Given the description of an element on the screen output the (x, y) to click on. 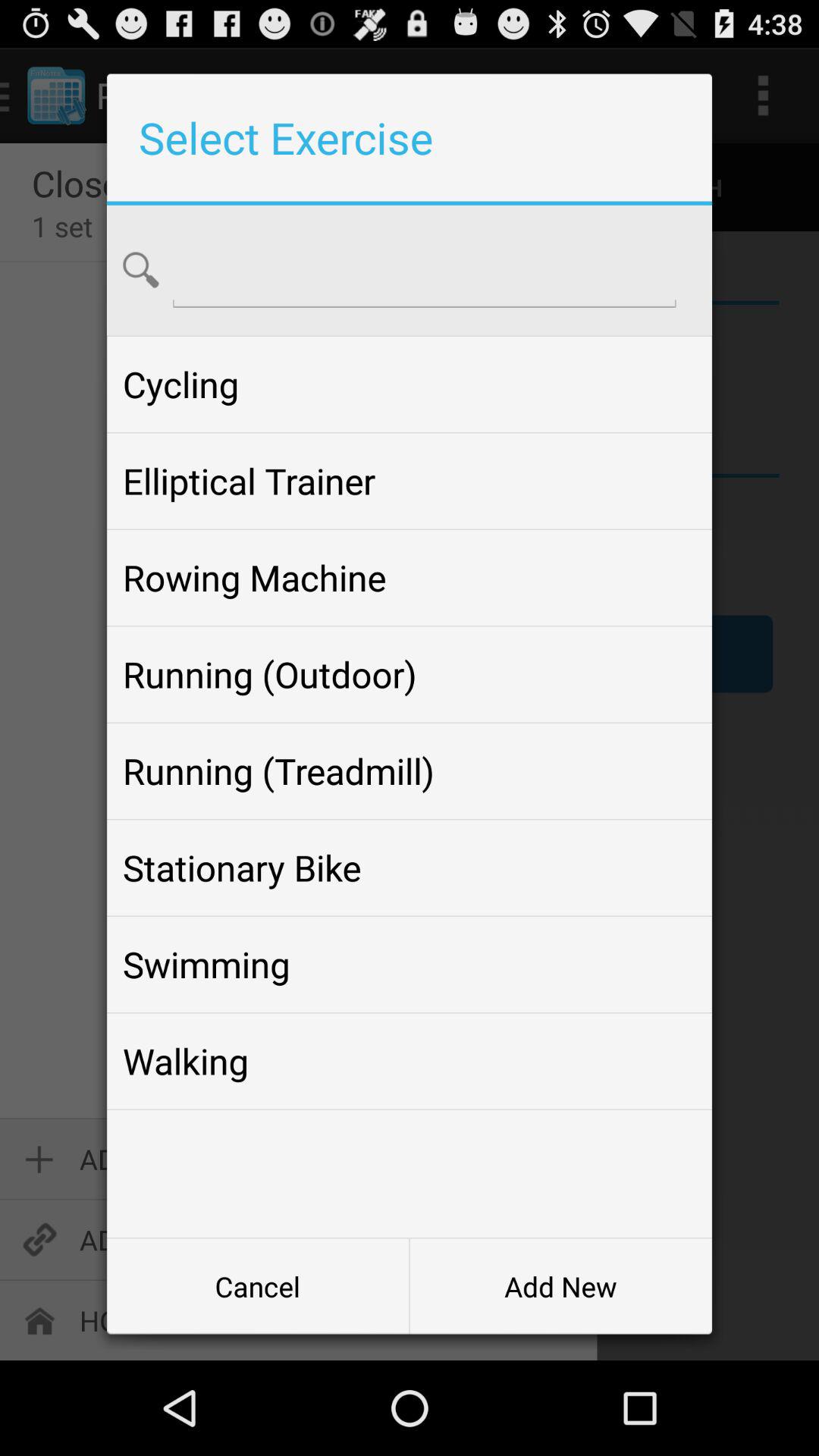
click the swimming item (409, 964)
